Given the description of an element on the screen output the (x, y) to click on. 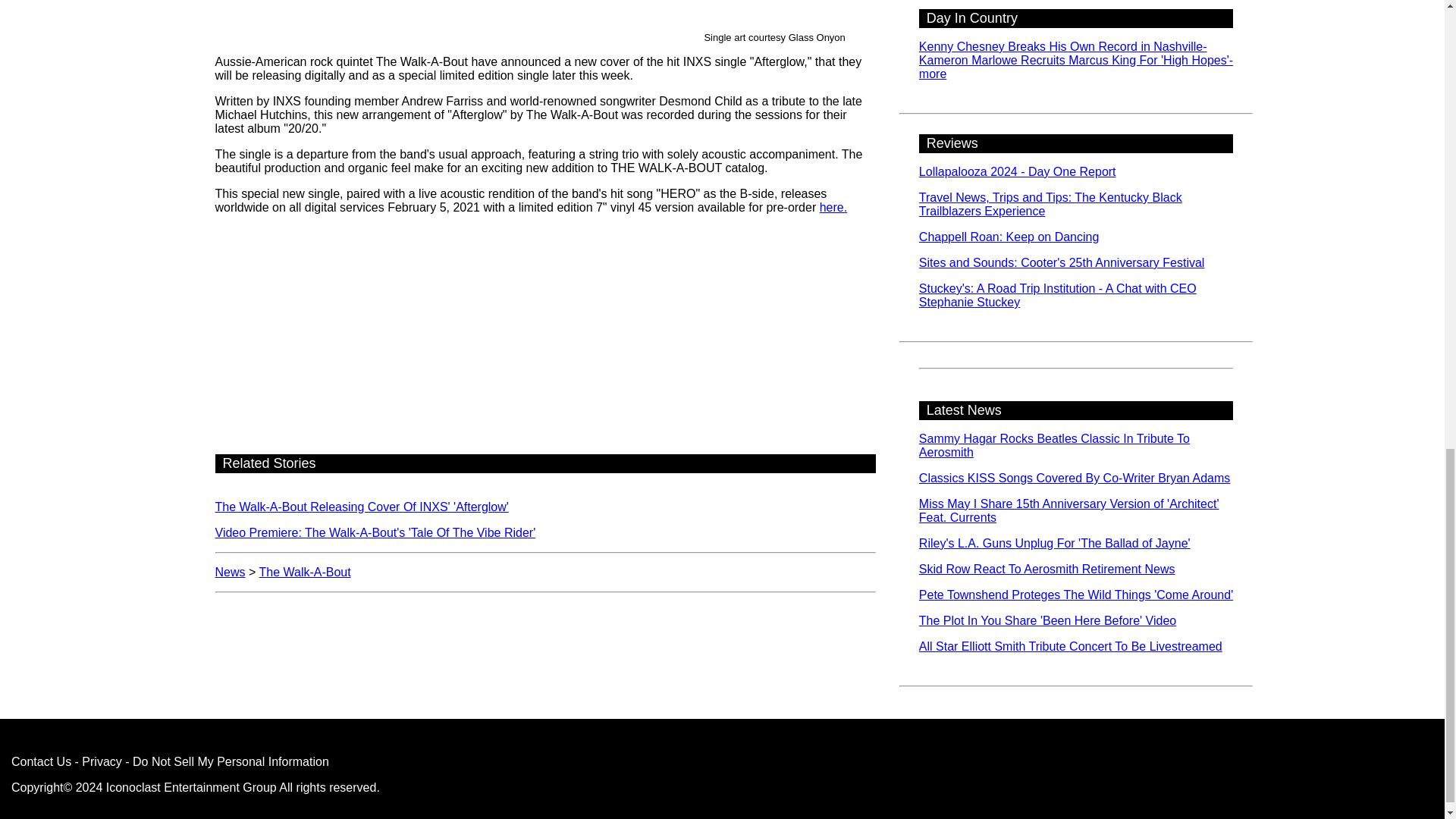
The Walk-A-Bout Releasing Cover Of INXS' 'Afterglow' (361, 506)
here. (833, 206)
Iconoclast Entertainment Group (191, 787)
Lollapalooza 2024 - Day One Report (1017, 171)
Chappell Roan: Keep on Dancing (1008, 236)
Sites and Sounds: Cooter's 25th Anniversary Festival (1061, 262)
Privacy - Do Not Sell My Personal Information (205, 761)
Skid Row React To Aerosmith Retirement News (1046, 568)
The Walk-A-Bout (304, 571)
Contact Us (41, 761)
Sammy Hagar Rocks Beatles Classic In Tribute To Aerosmith (1053, 445)
Riley's L.A. Guns Unplug For 'The Ballad of Jayne' (1054, 543)
